Given the description of an element on the screen output the (x, y) to click on. 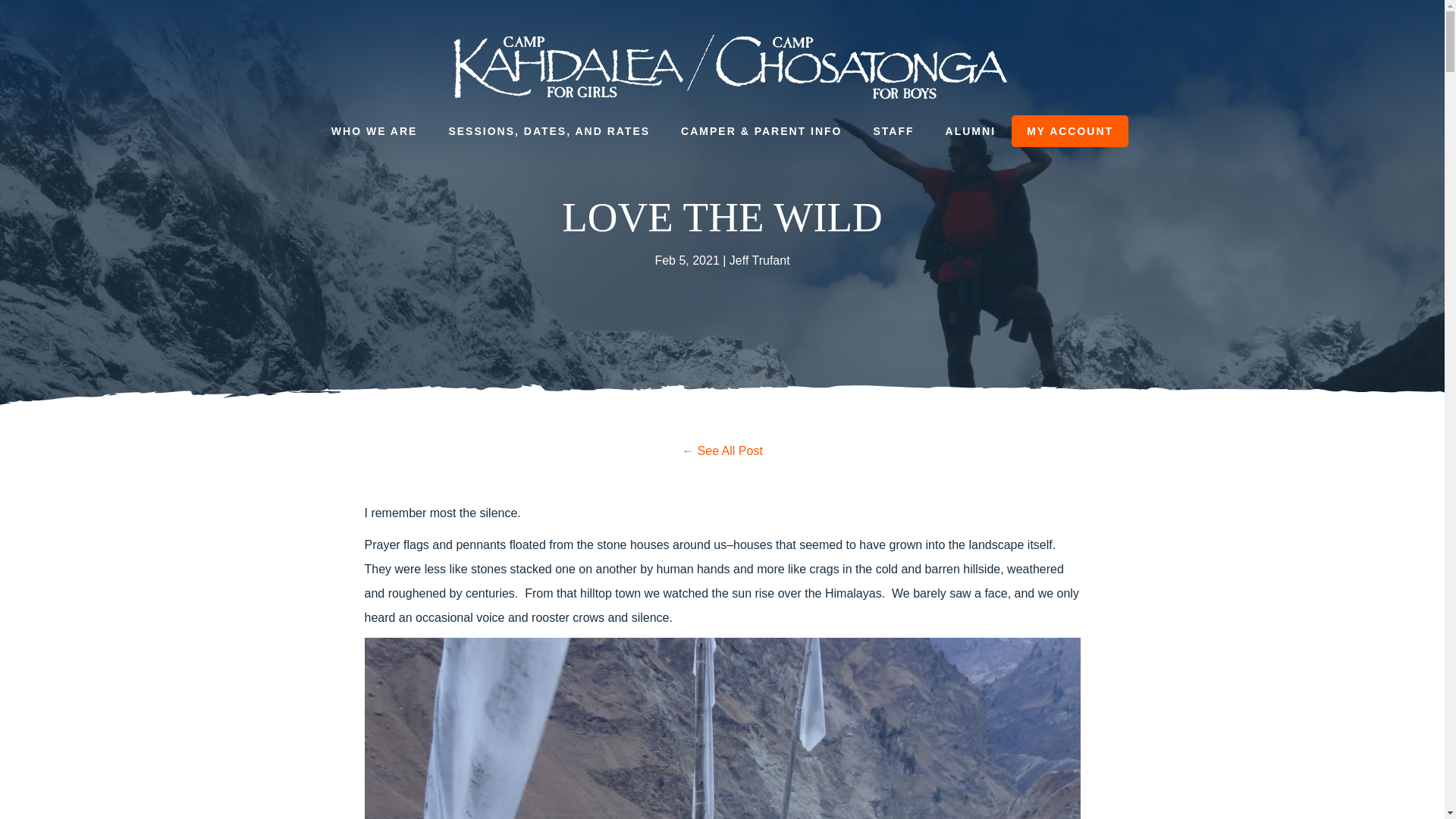
WHO WE ARE (373, 130)
ckc-official-logo (729, 66)
SESSIONS, DATES, AND RATES (548, 130)
STAFF (894, 130)
CKCSparks (721, 450)
